Given the description of an element on the screen output the (x, y) to click on. 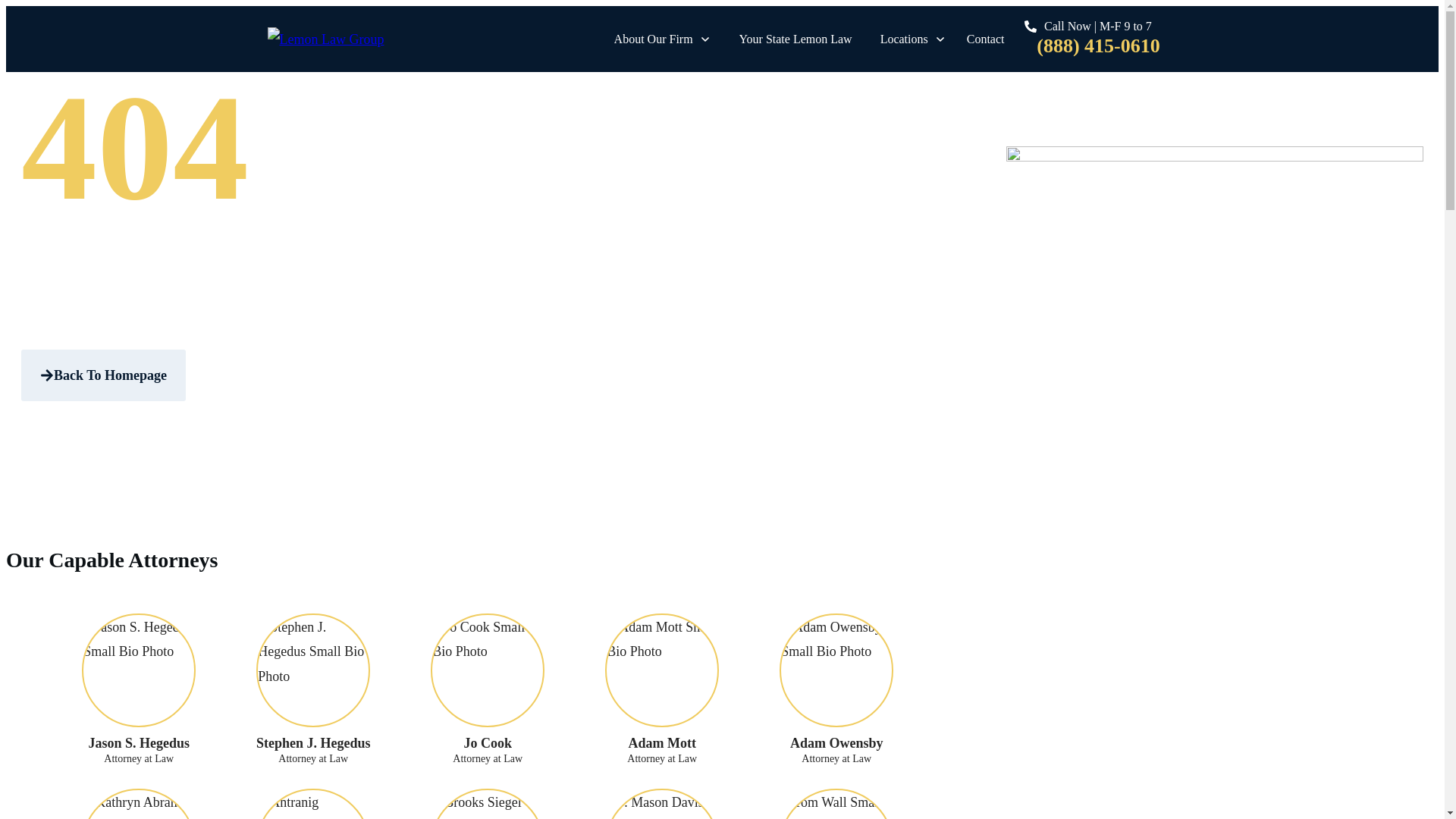
Contact (985, 39)
About Our Firm (662, 39)
Your State Lemon Law (795, 39)
Locations (913, 39)
